Given the description of an element on the screen output the (x, y) to click on. 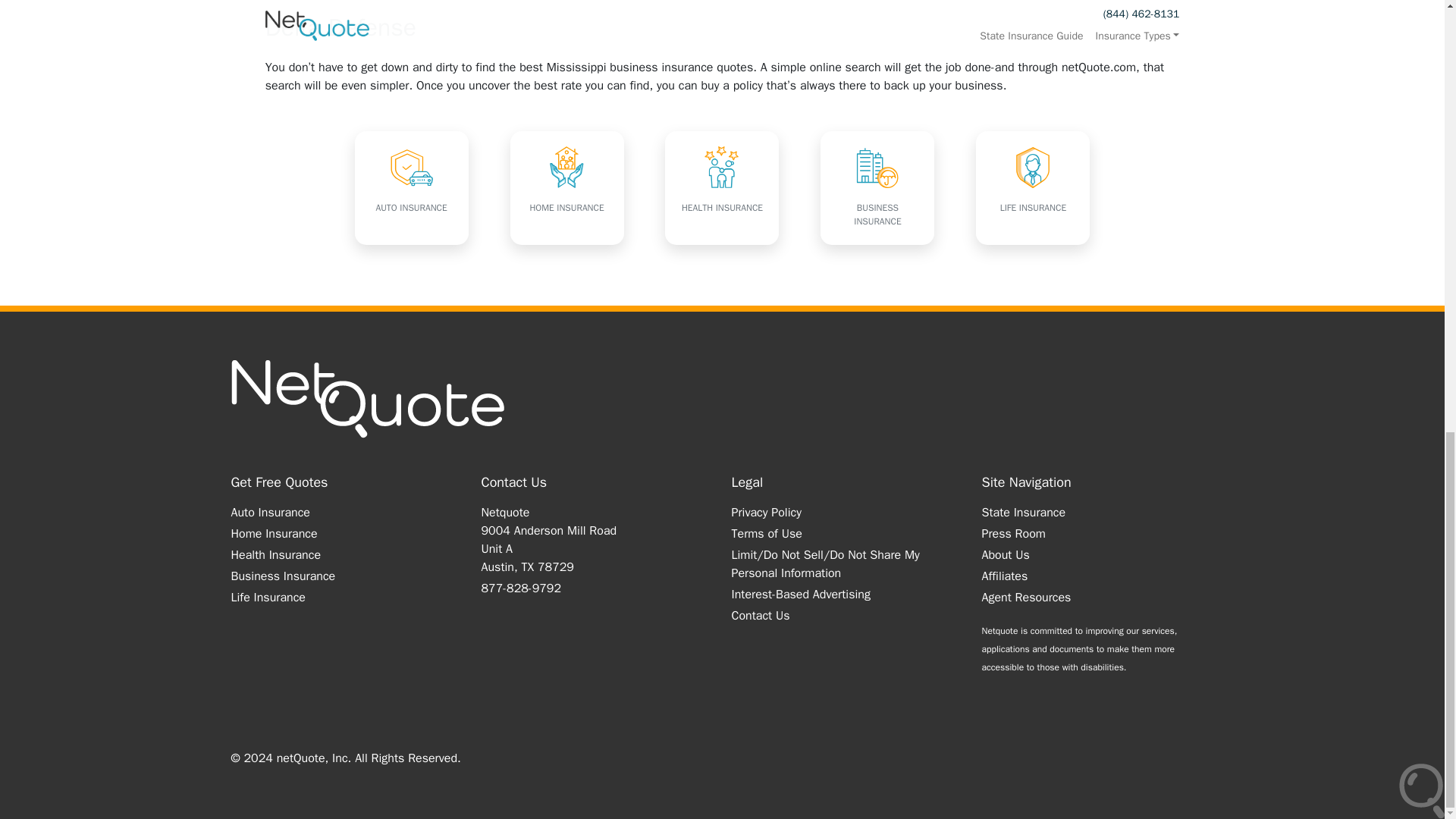
BUSINESS INSURANCE (877, 187)
AUTO INSURANCE (411, 187)
Home Insurance (273, 533)
Health Insurance (275, 554)
LIFE INSURANCE (1032, 187)
Life Insurance (267, 597)
Business Insurance (282, 575)
HEALTH INSURANCE (721, 187)
HOME INSURANCE (567, 187)
Privacy Policy (765, 512)
Auto Insurance (269, 512)
